Given the description of an element on the screen output the (x, y) to click on. 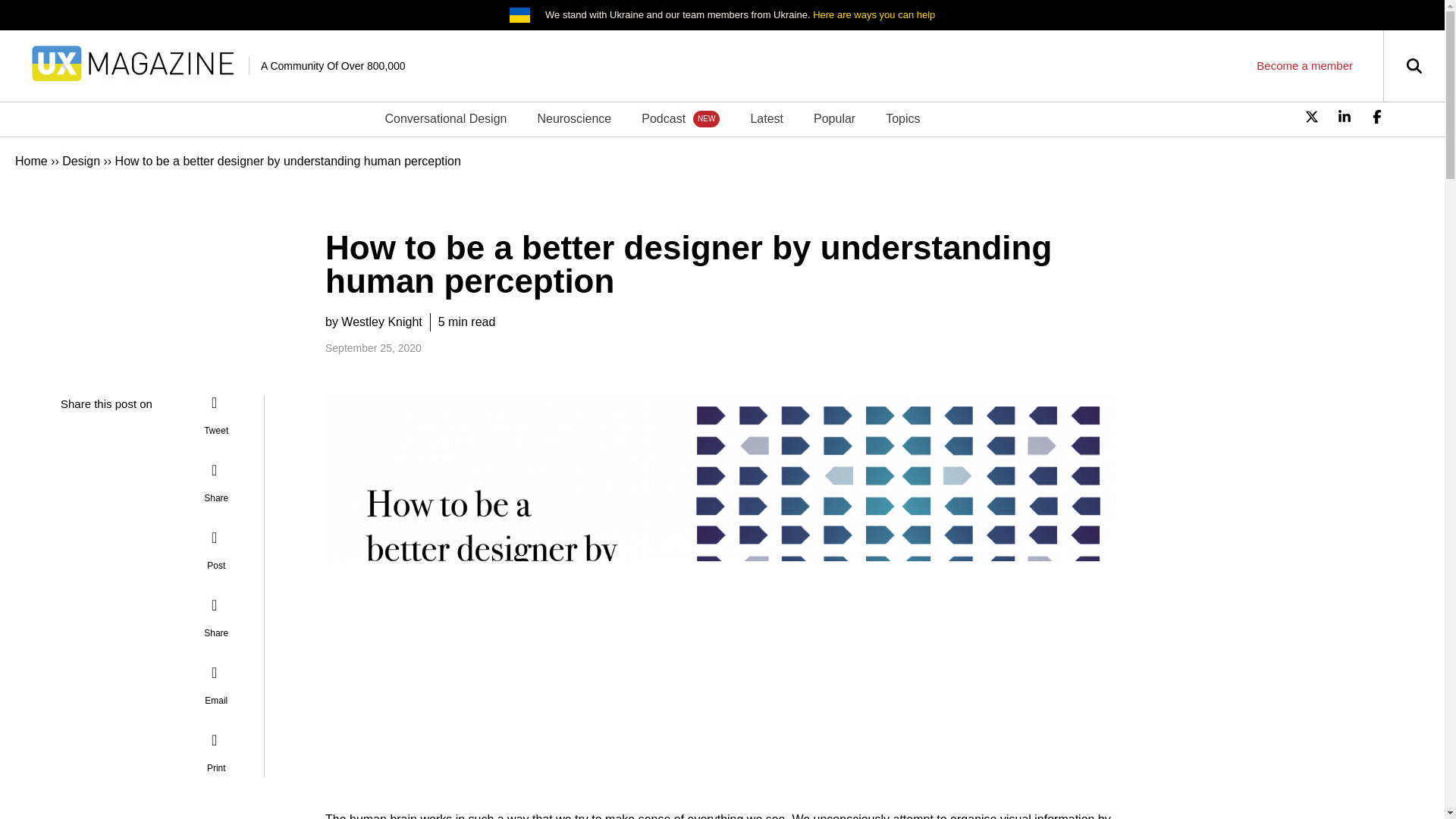
Podcast (680, 118)
Topics (902, 118)
Design (81, 160)
Latest (766, 118)
Neuroscience (573, 118)
Popular (833, 118)
Conversational Design (445, 118)
Home (31, 160)
Become a member (1304, 65)
Here are ways you can help (873, 14)
